Given the description of an element on the screen output the (x, y) to click on. 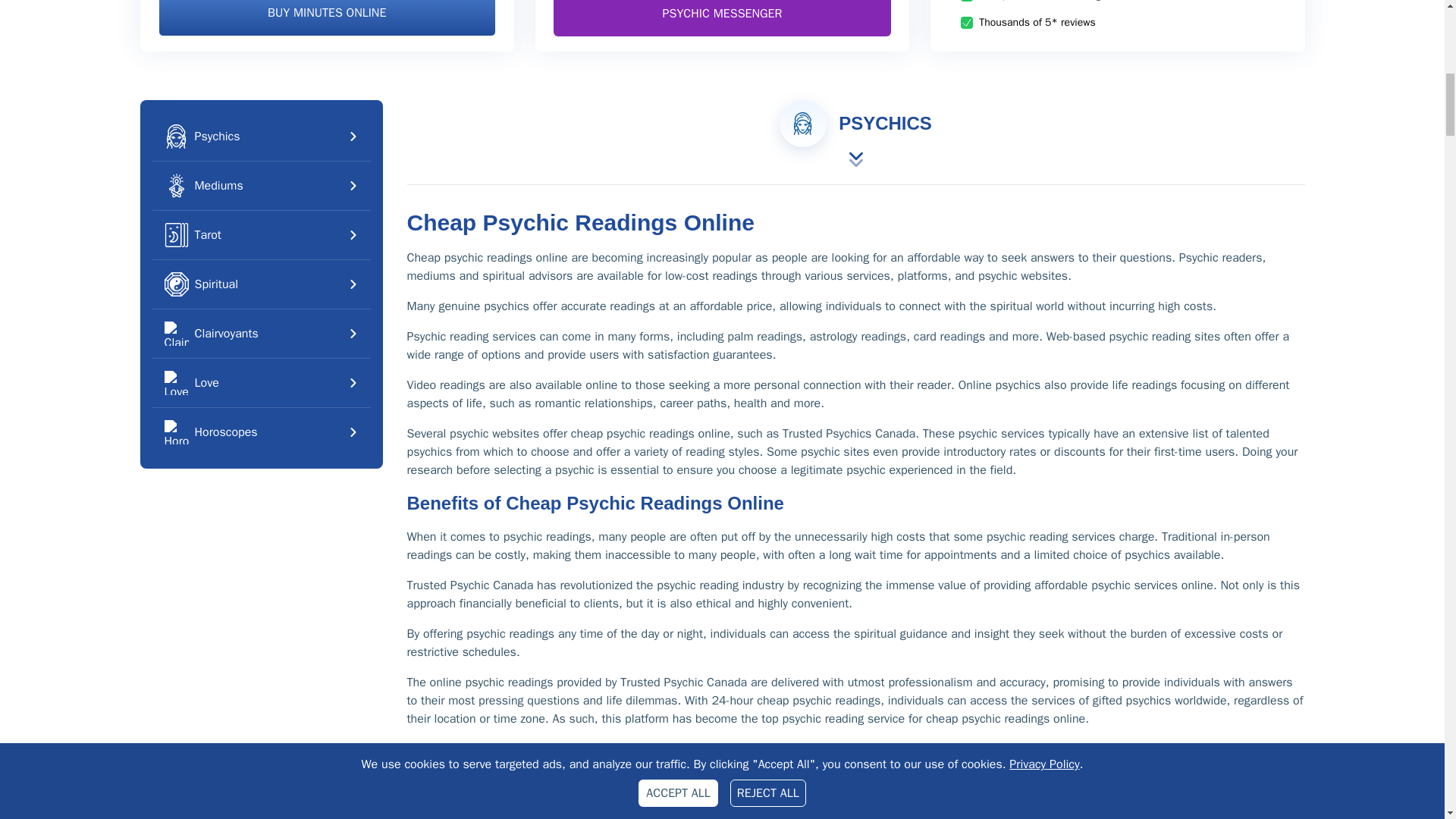
Psychics (260, 136)
Horoscopes (260, 431)
Mediums (260, 185)
Tarot (260, 234)
Love (260, 382)
BUY MINUTES ONLINE (326, 18)
Clairvoyants (260, 333)
PSYCHIC MESSENGER (722, 18)
Spiritual (260, 284)
